Given the description of an element on the screen output the (x, y) to click on. 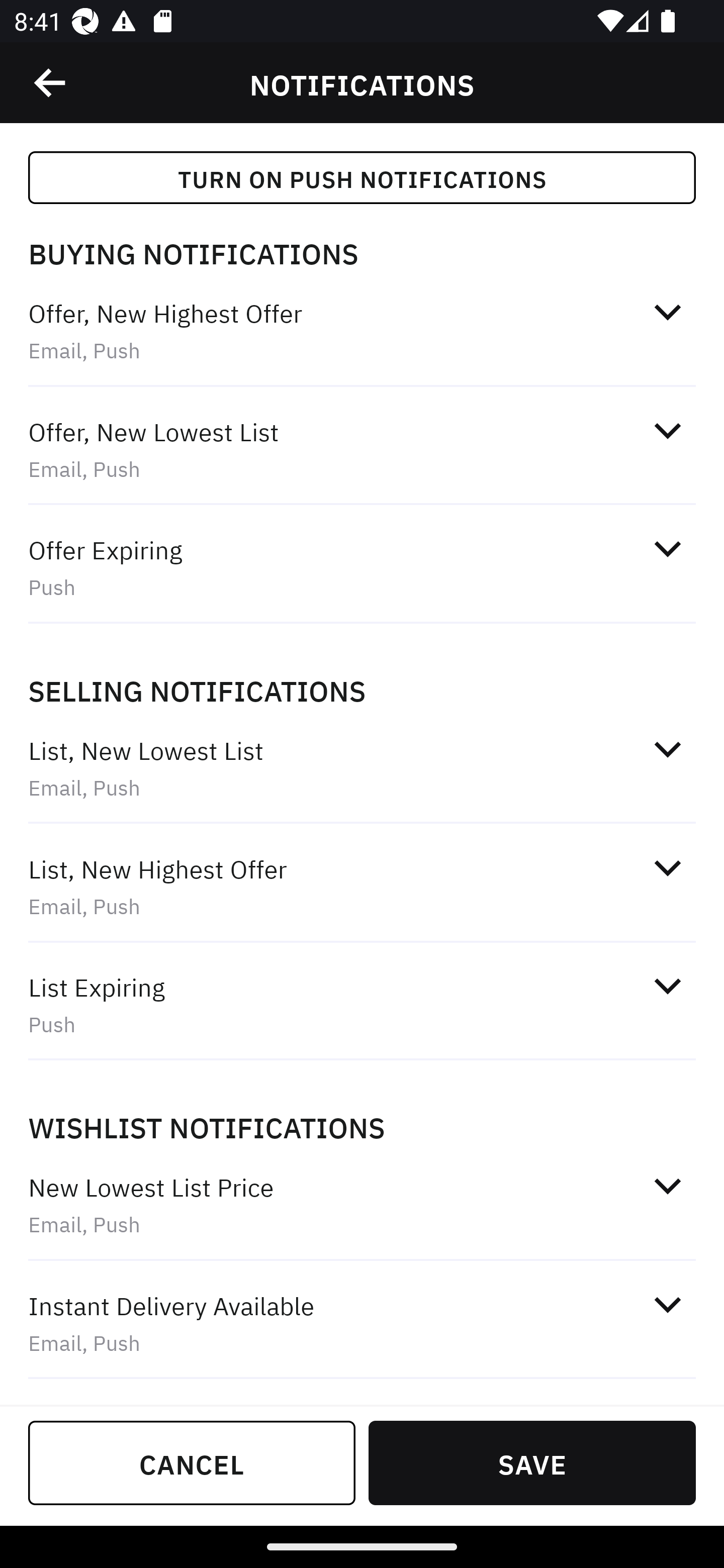
 (50, 83)
TURN ON PUSH NOTIFICATIONS (361, 176)
Offer, New Highest Offer  Email, Push (361, 330)
 (667, 311)
Offer, New Lowest List  Email, Push (361, 449)
 (667, 430)
Offer Expiring  Push (361, 567)
 (667, 548)
List, New Lowest List  Email, Push (361, 767)
 (667, 748)
List, New Highest Offer  Email, Push (361, 887)
 (667, 867)
List Expiring  Push (361, 1004)
 (667, 985)
New Lowest List Price  Email, Push (361, 1204)
 (667, 1185)
Instant Delivery Available  Email, Push (361, 1322)
 (667, 1304)
CANCEL (191, 1462)
SAVE (531, 1462)
